Given the description of an element on the screen output the (x, y) to click on. 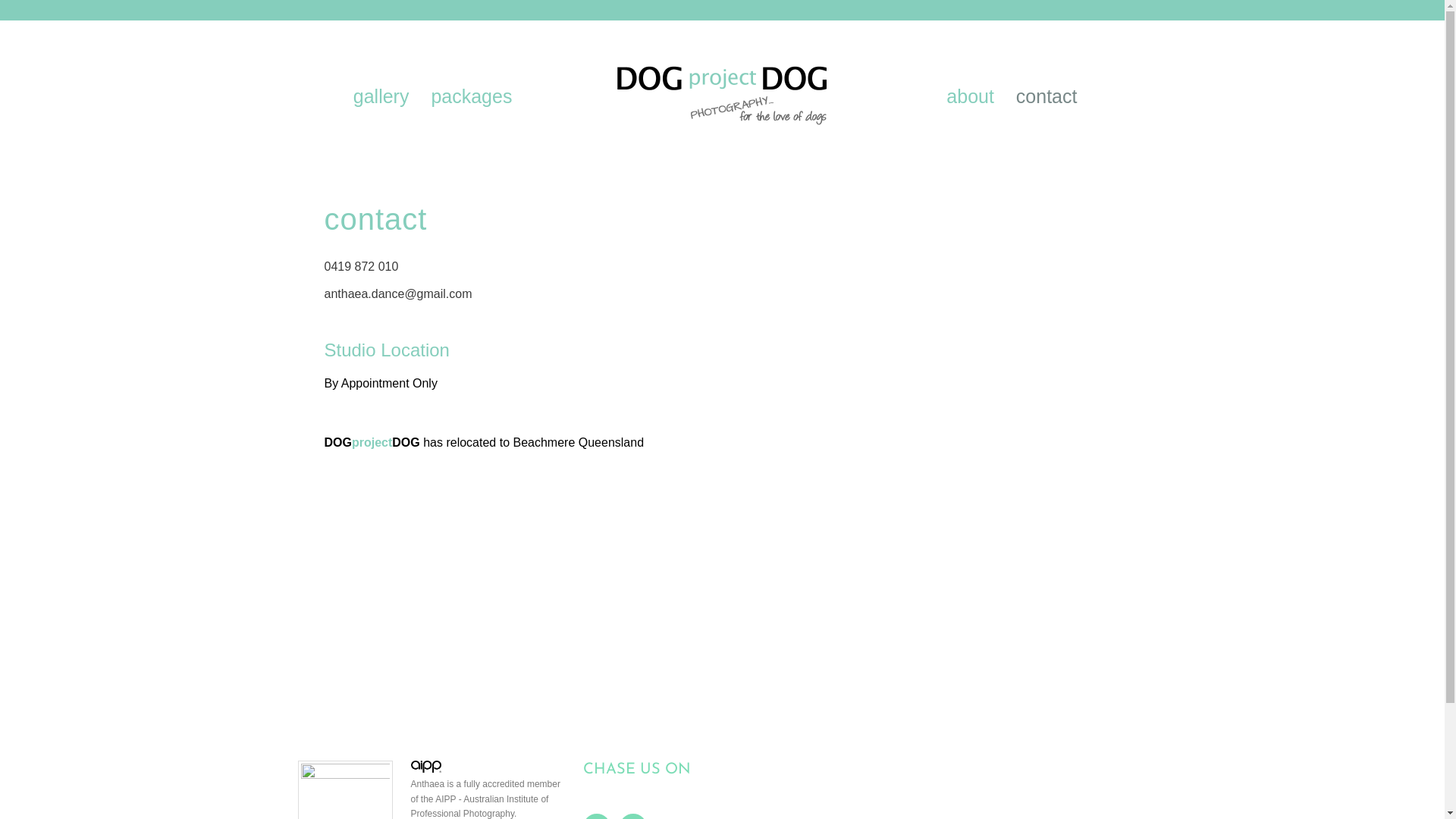
packages Element type: text (471, 95)
about Element type: text (970, 95)
contact Element type: text (1046, 95)
gallery Element type: text (381, 95)
DOG PROJECT DOG Element type: text (722, 86)
Google Map for  Element type: hover (722, 585)
